Given the description of an element on the screen output the (x, y) to click on. 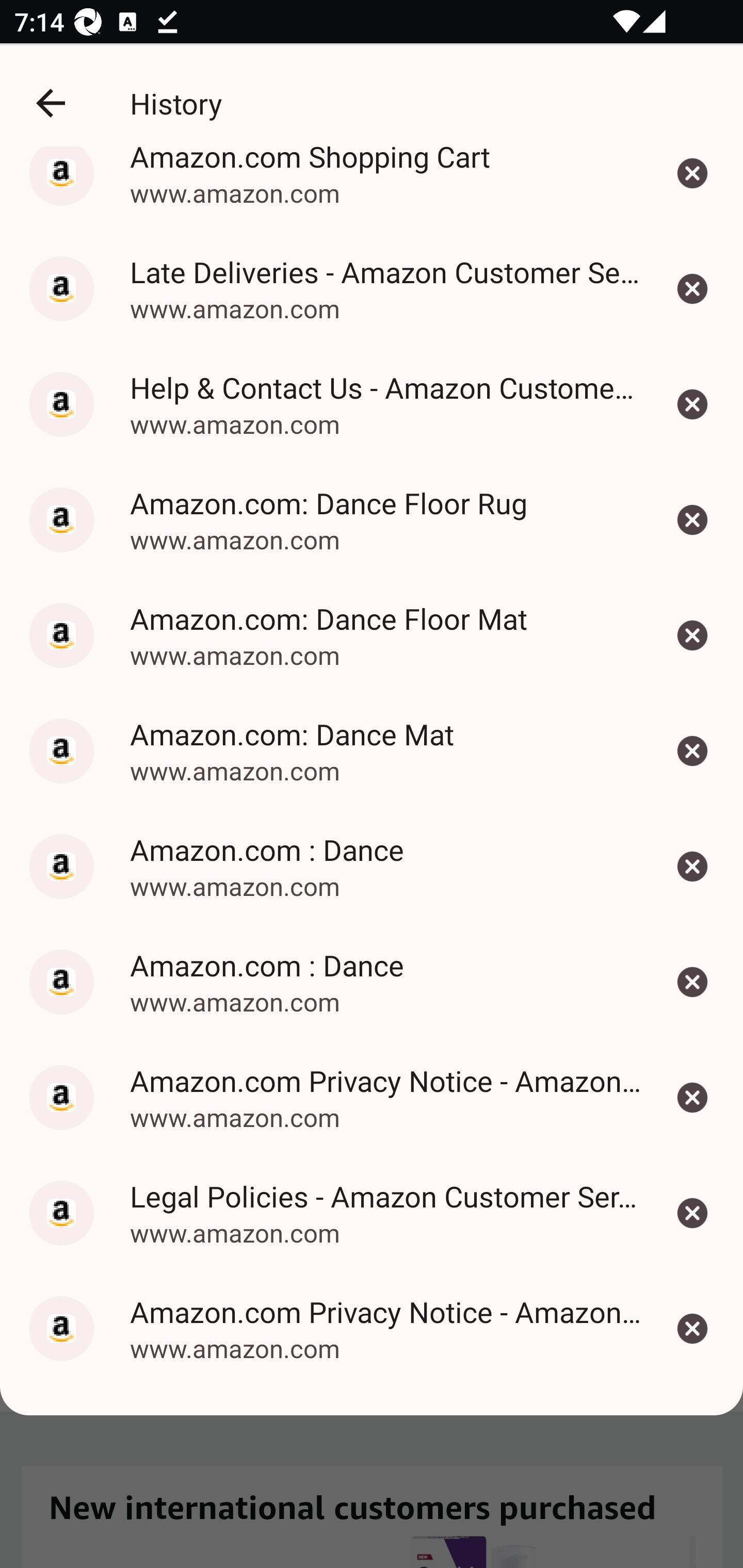
Back (50, 102)
Amazon.com Shopping Cart Remove (692, 187)
Late Deliveries - Amazon Customer Service Remove (692, 288)
Help & Contact Us - Amazon Customer Service Remove (692, 404)
Amazon.com: Dance Floor Rug Remove (692, 519)
Amazon.com: Dance Floor Mat Remove (692, 635)
Amazon.com: Dance Mat Remove (692, 751)
Amazon.com : Dance Remove (692, 866)
Amazon.com : Dance Remove (692, 981)
Legal Policies - Amazon Customer Service Remove (692, 1213)
